Given the description of an element on the screen output the (x, y) to click on. 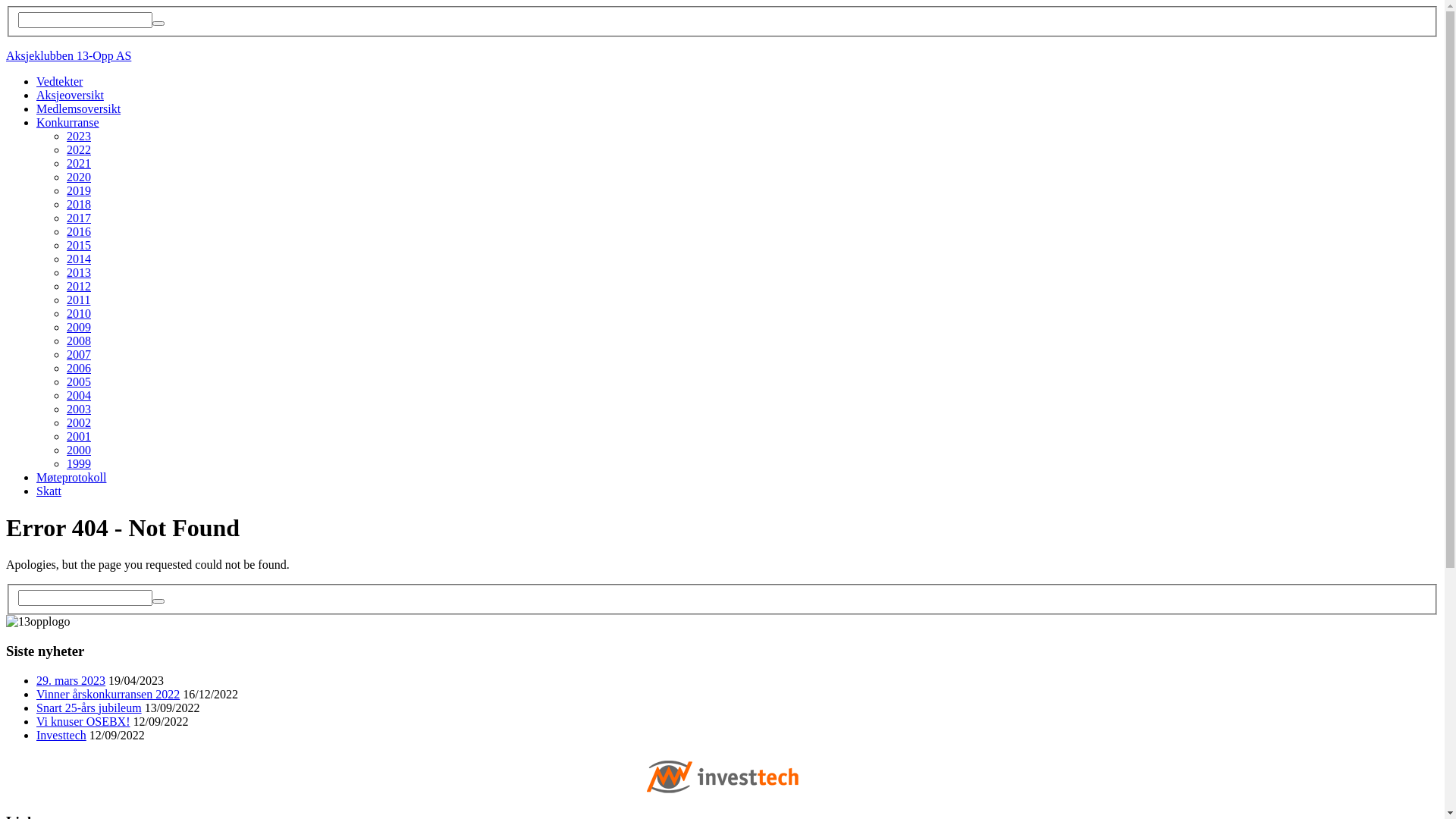
2017 Element type: text (78, 217)
2018 Element type: text (78, 203)
2019 Element type: text (78, 190)
Vi knuser OSEBX! Element type: text (82, 720)
Skatt Element type: text (48, 490)
Konkurranse Element type: text (67, 122)
2002 Element type: text (78, 422)
2005 Element type: text (78, 381)
2000 Element type: text (78, 449)
2009 Element type: text (78, 326)
2003 Element type: text (78, 408)
2023 Element type: text (78, 135)
2010 Element type: text (78, 313)
2011 Element type: text (78, 299)
2020 Element type: text (78, 176)
2001 Element type: text (78, 435)
2008 Element type: text (78, 340)
Aksjeoversikt Element type: text (69, 94)
Investtech Element type: text (61, 734)
2015 Element type: text (78, 244)
Search Element type: text (158, 23)
2016 Element type: text (78, 231)
2014 Element type: text (78, 258)
1999 Element type: text (78, 463)
Aksjeklubben 13-Opp AS Element type: text (68, 55)
Medlemsoversikt Element type: text (78, 108)
2004 Element type: text (78, 395)
2006 Element type: text (78, 367)
2012 Element type: text (78, 285)
2021 Element type: text (78, 162)
Search Element type: text (158, 601)
2022 Element type: text (78, 149)
29. mars 2023 Element type: text (70, 679)
2007 Element type: text (78, 354)
Vedtekter Element type: text (59, 81)
2013 Element type: text (78, 272)
